Given the description of an element on the screen output the (x, y) to click on. 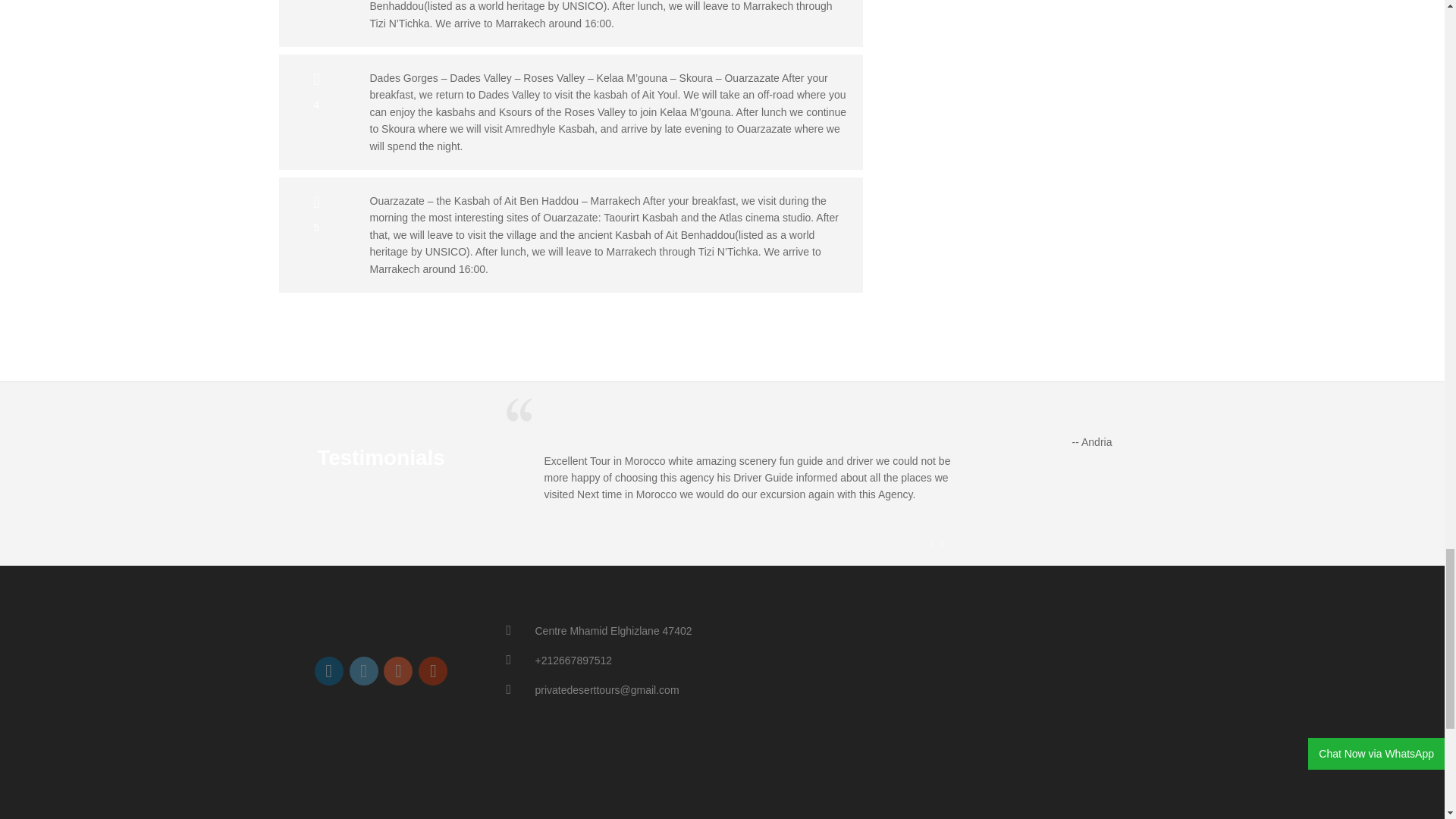
facebook (328, 670)
google plus (398, 670)
youtube (432, 670)
twitter (363, 670)
